Given the description of an element on the screen output the (x, y) to click on. 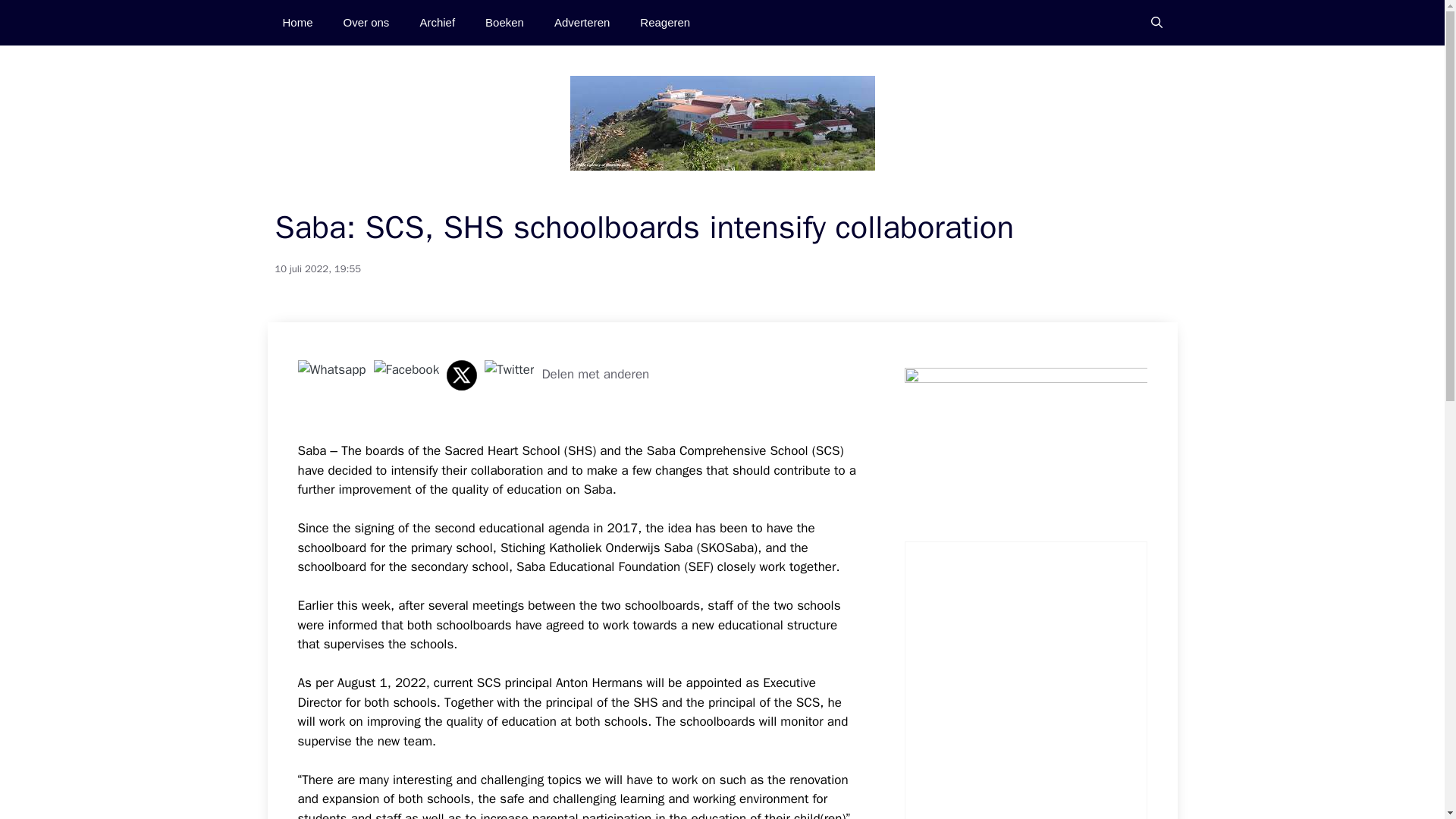
Reageren (664, 22)
Adverteren (581, 22)
Home (296, 22)
banner (1025, 447)
Boeken (504, 22)
Delen via Email (509, 369)
Over ons (366, 22)
Archief (437, 22)
